Given the description of an element on the screen output the (x, y) to click on. 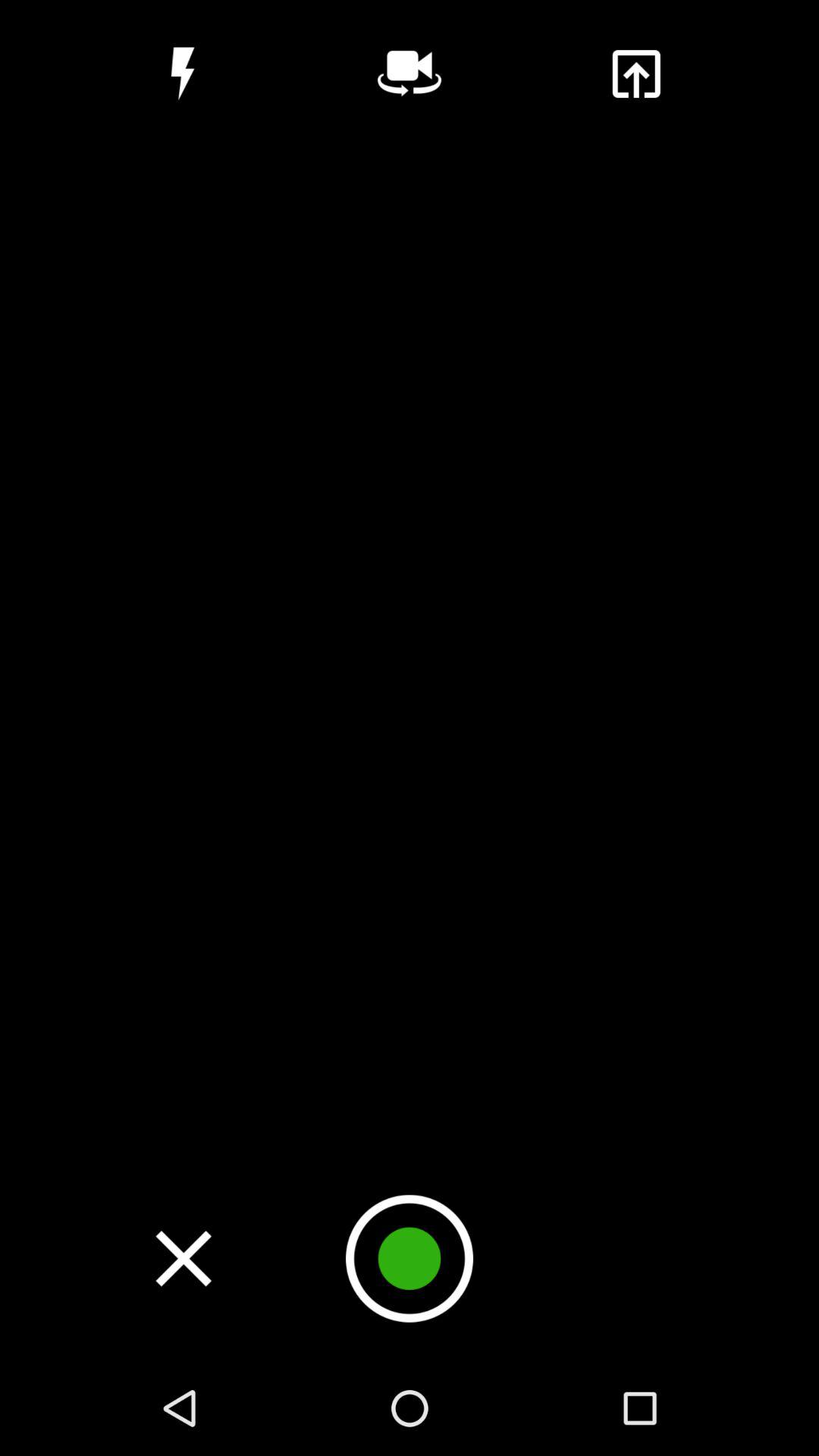
open the item at the top (409, 73)
